Given the description of an element on the screen output the (x, y) to click on. 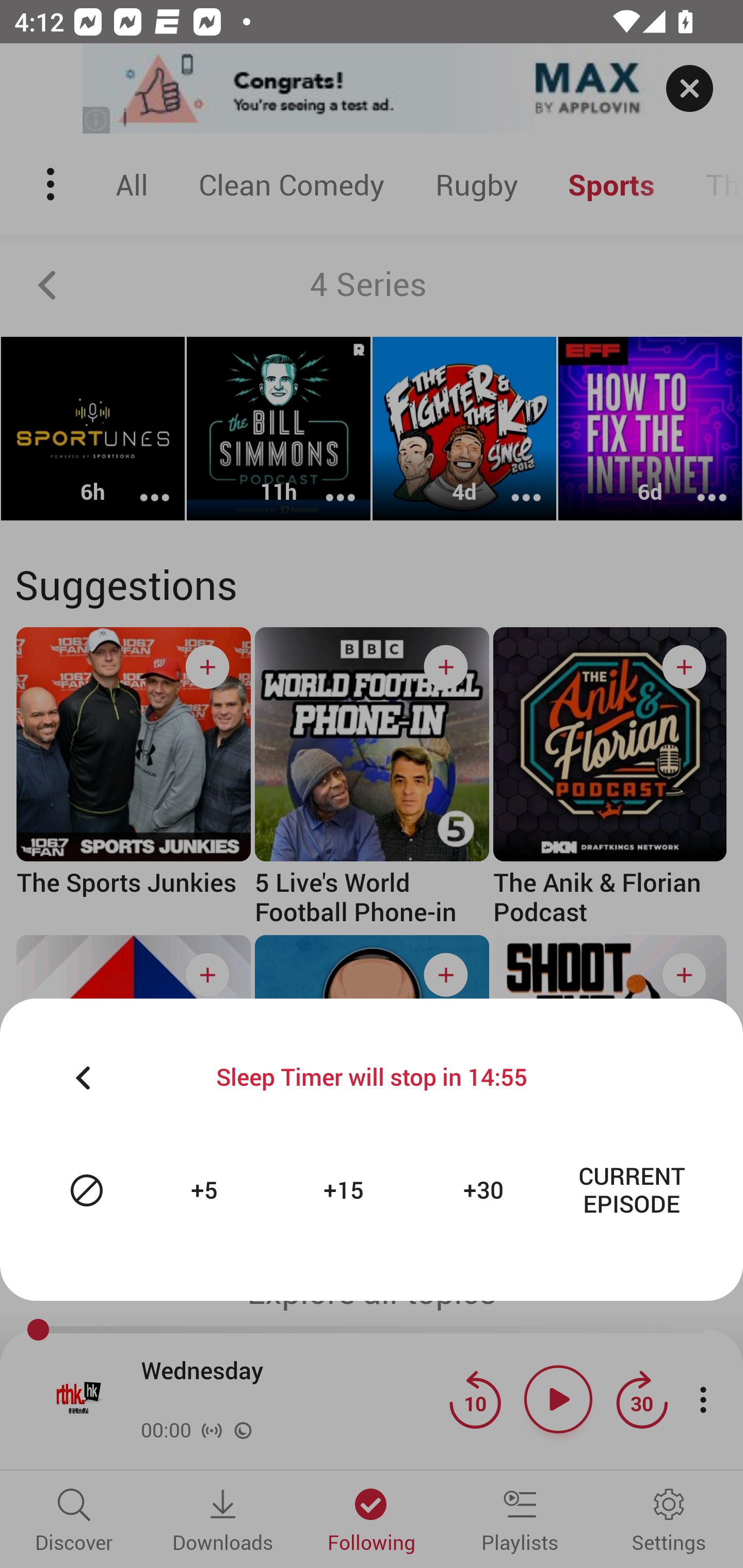
Reset (86, 1190)
+5  (206, 1190)
+15  (346, 1190)
+30  (486, 1190)
CURRENT
EPISODE (631, 1190)
